Given the description of an element on the screen output the (x, y) to click on. 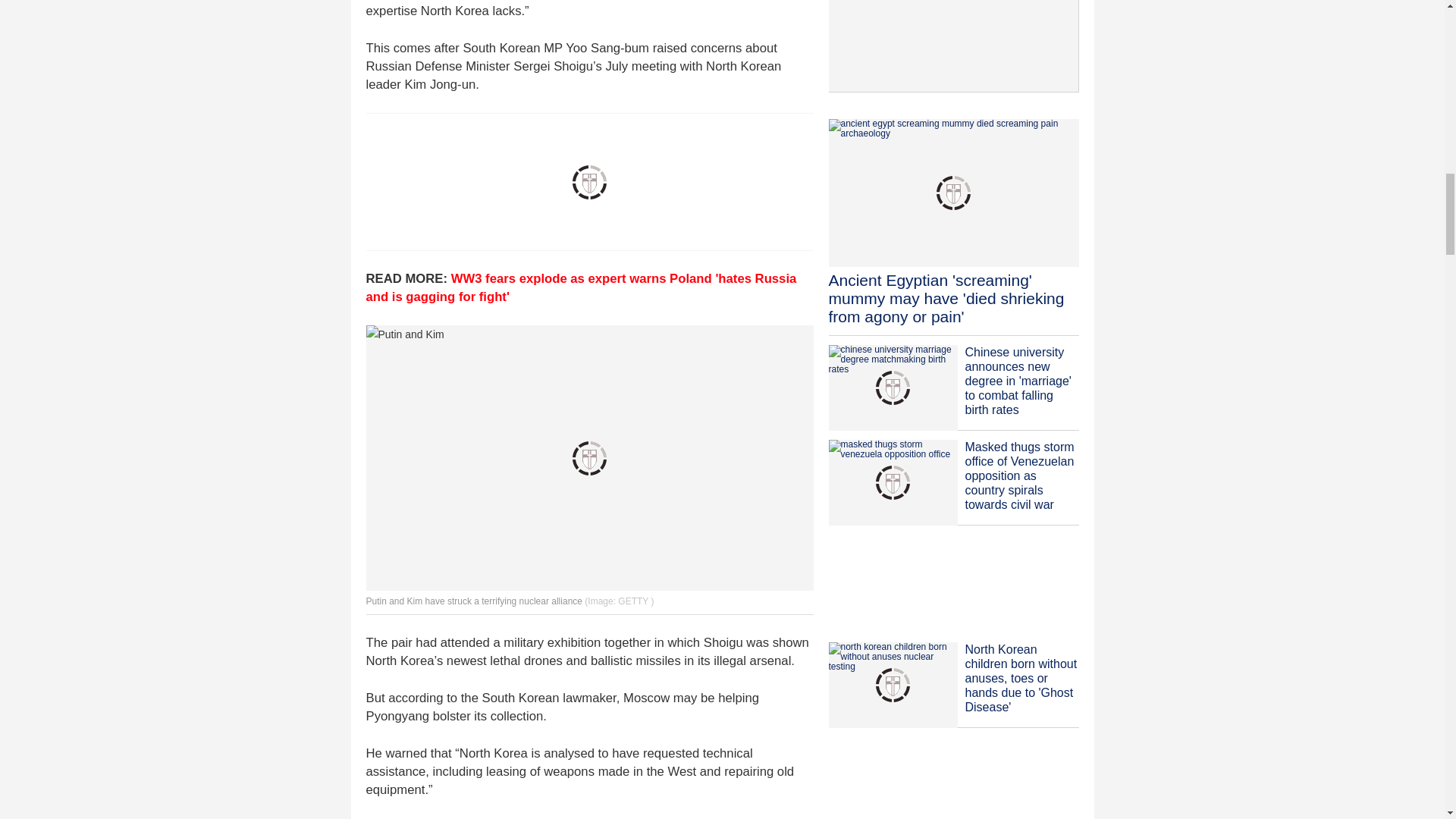
chinese university marriage degree matchmaking birth rates  (892, 387)
Putin and Kim  (588, 457)
masked thugs storm venezuela opposition office (892, 482)
